Given the description of an element on the screen output the (x, y) to click on. 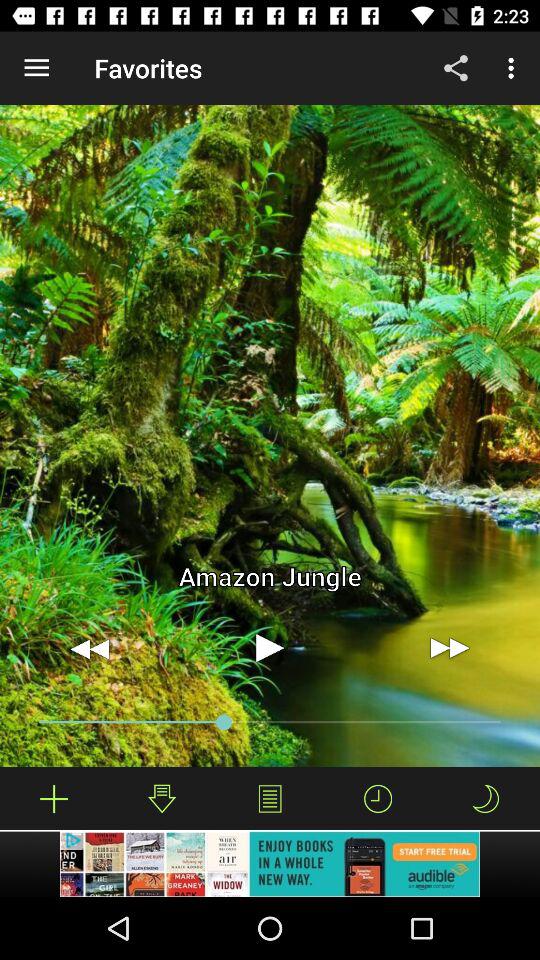
play video (270, 648)
